Given the description of an element on the screen output the (x, y) to click on. 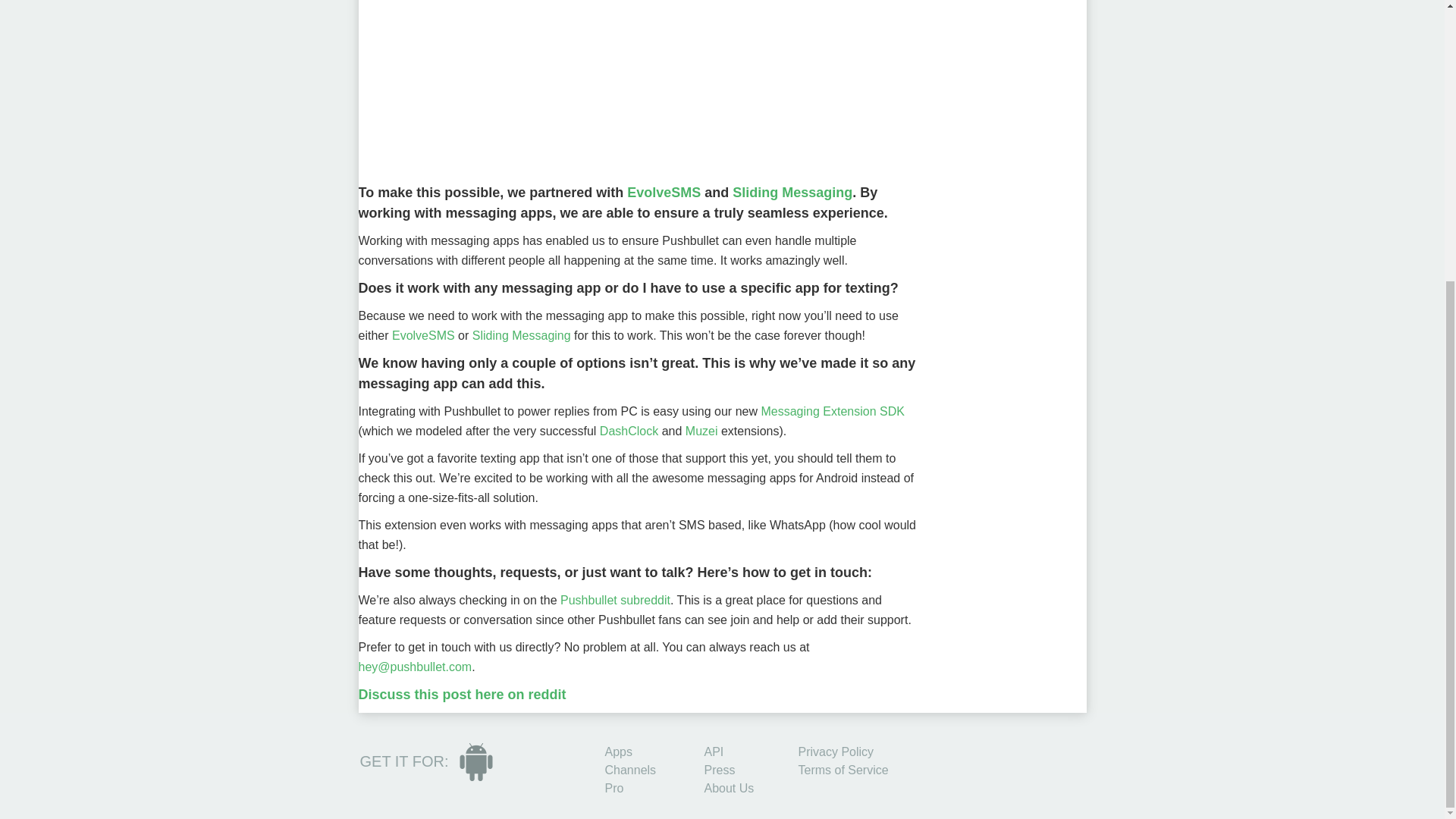
Pushbullet subreddit (614, 599)
Messaging Extension SDK (832, 410)
DashClock (628, 431)
EvolveSMS (422, 335)
EvolveSMS (663, 192)
API (713, 751)
Press (719, 769)
Terms of Service (842, 769)
Pro (614, 788)
Muzei (701, 431)
